Given the description of an element on the screen output the (x, y) to click on. 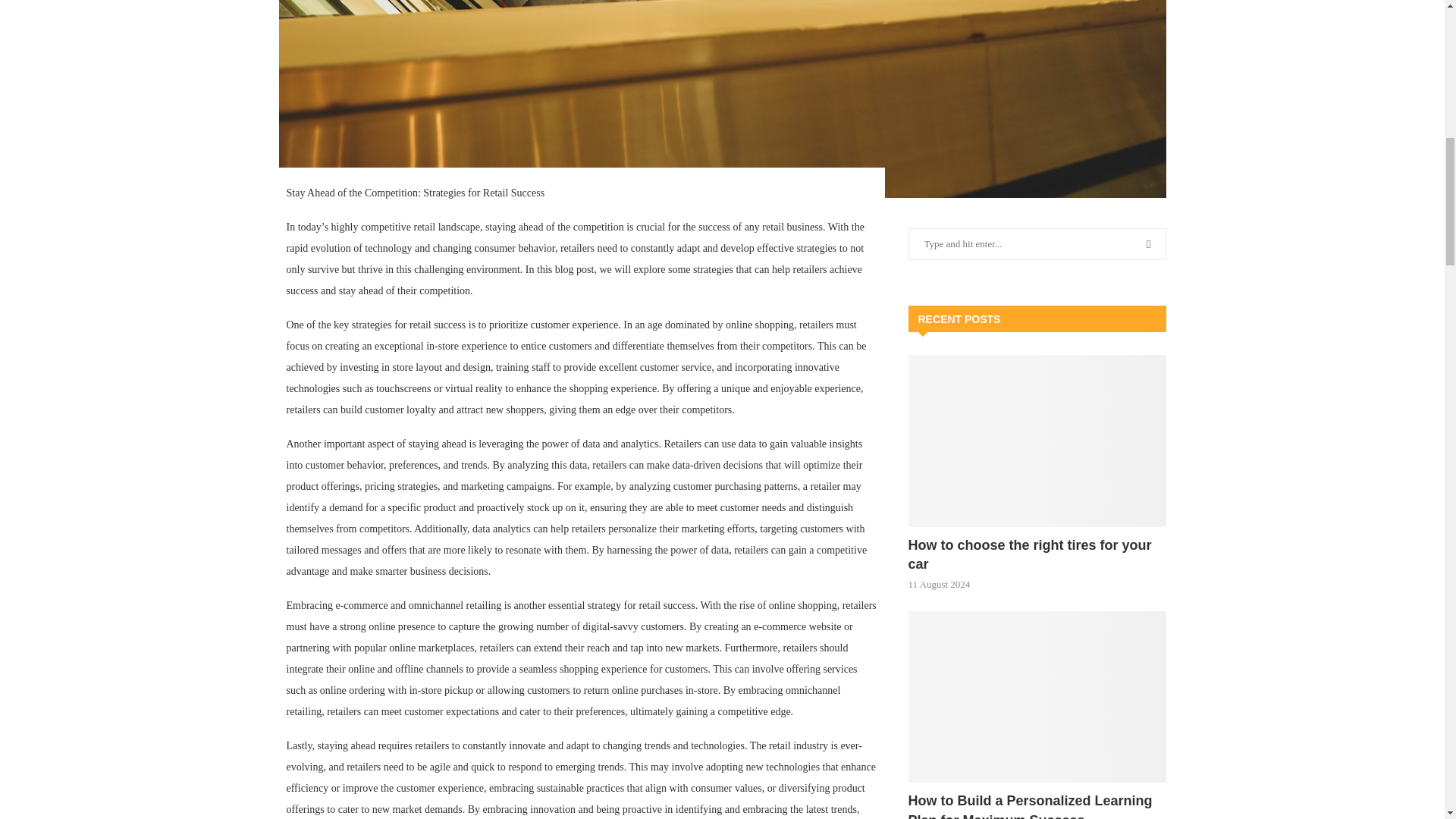
How to choose the right tires for your car (1037, 440)
How to choose the right tires for your car (1037, 555)
